Given the description of an element on the screen output the (x, y) to click on. 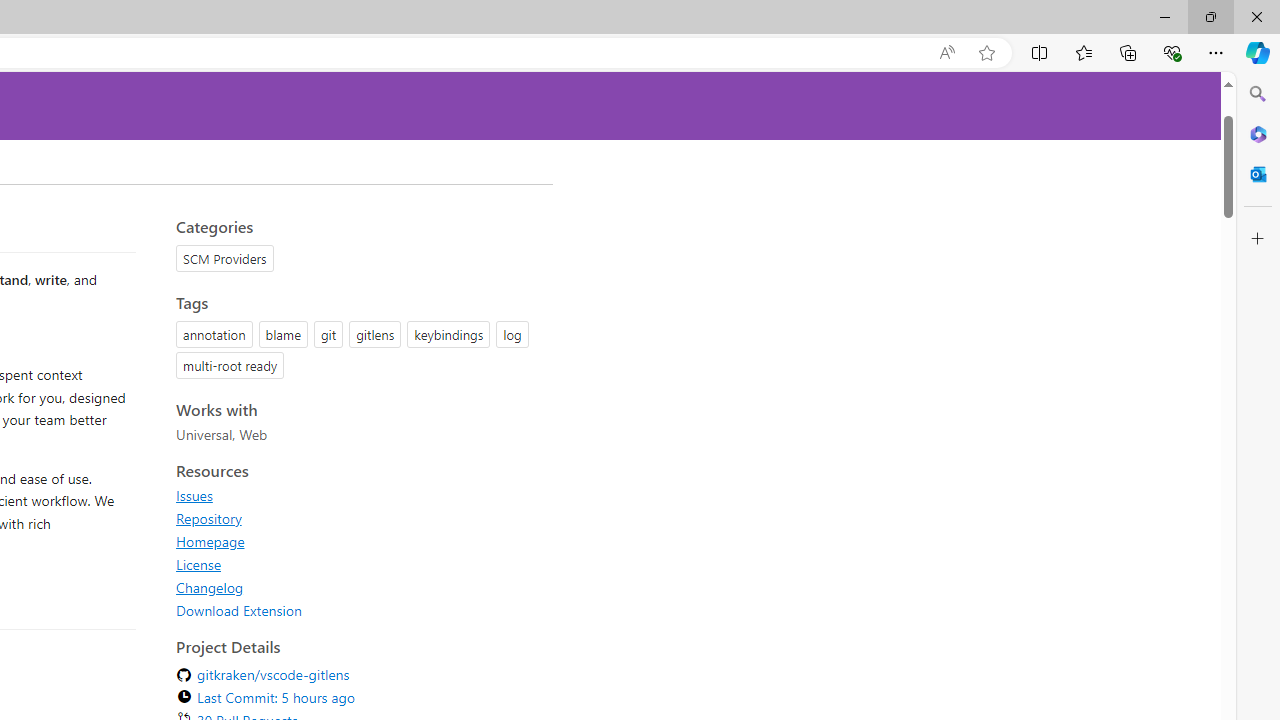
Download Extension (358, 610)
